Given the description of an element on the screen output the (x, y) to click on. 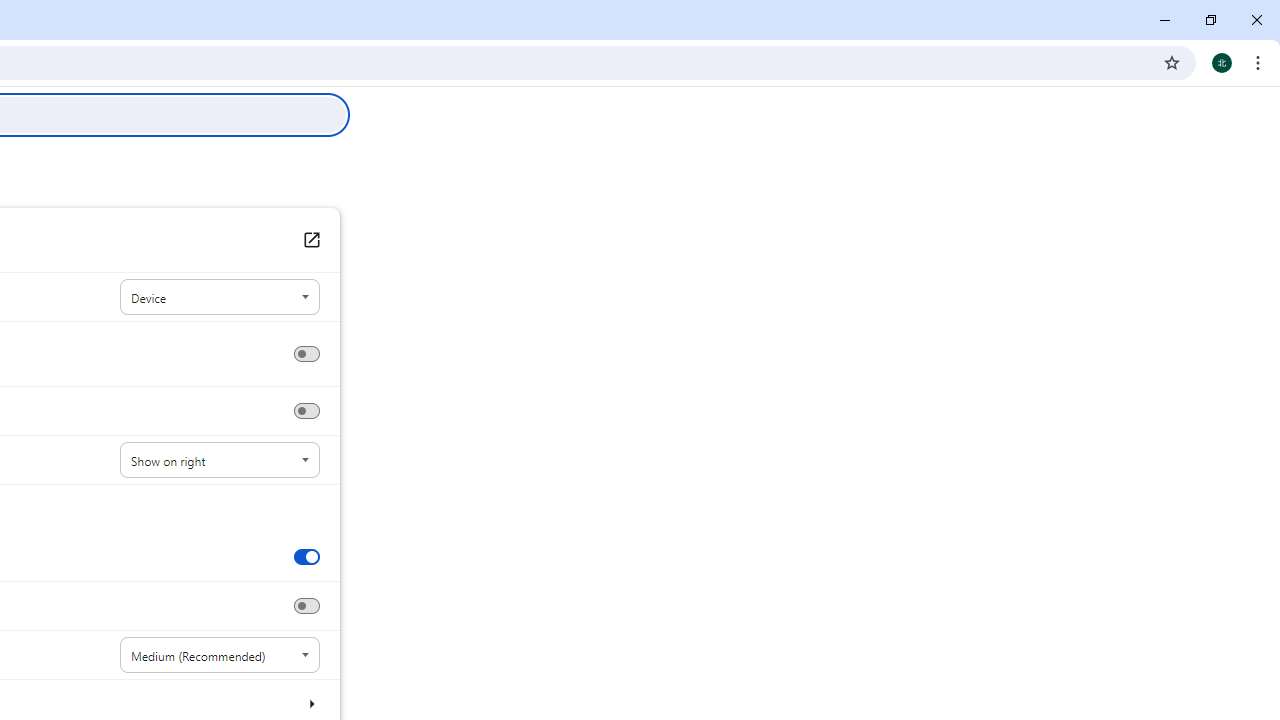
Show tab memory usage (306, 606)
Customize fonts (310, 703)
Show bookmarks bar (306, 411)
Theme Open Chrome Web Store (310, 240)
Side panel position (219, 460)
Mode (219, 297)
Show home button (306, 354)
Show tab preview images (306, 556)
Font size (219, 655)
